Given the description of an element on the screen output the (x, y) to click on. 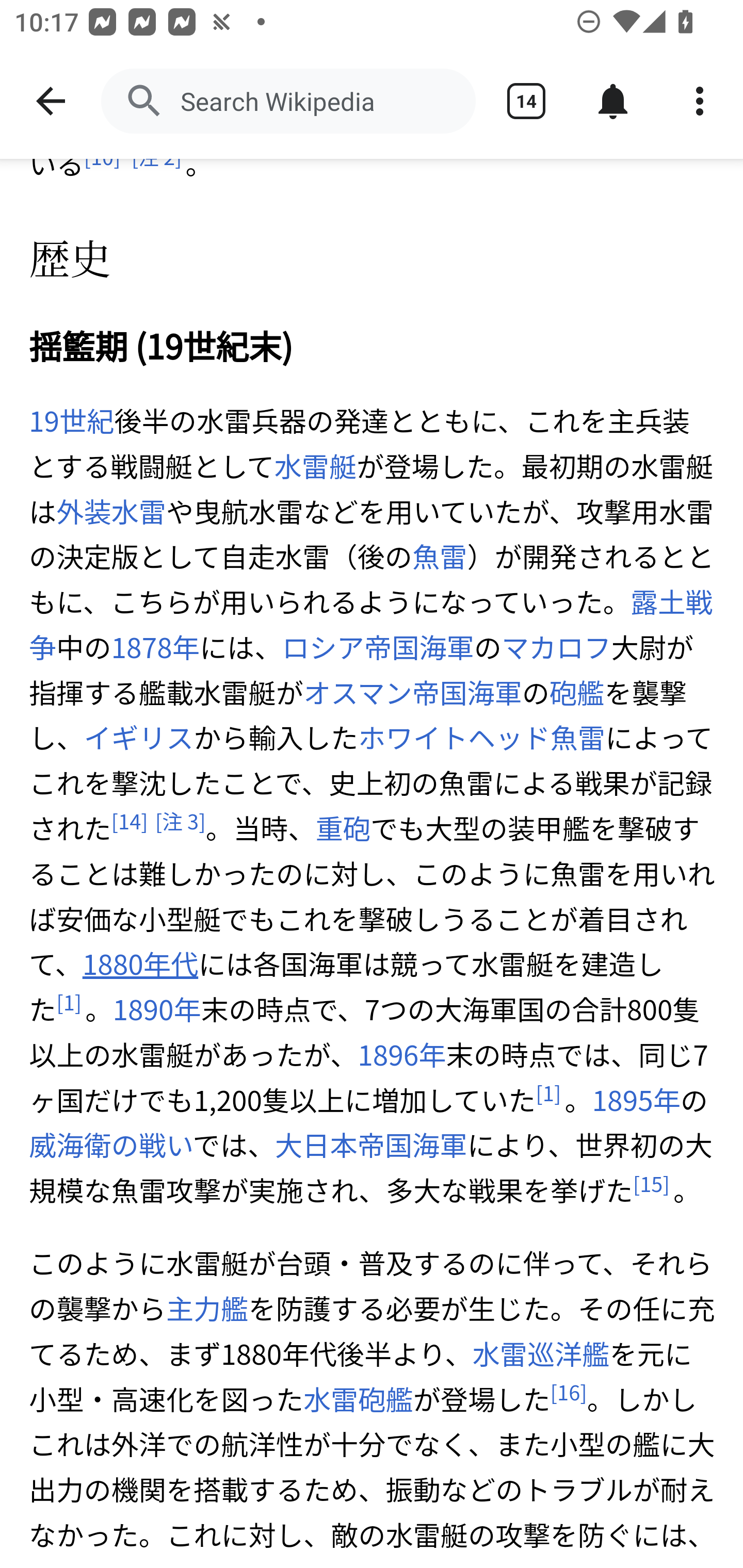
Show tabs 14 (525, 100)
Notifications (612, 100)
Navigate up (50, 101)
More options (699, 101)
Search Wikipedia (288, 100)
19世紀 (71, 421)
水雷艇 (314, 466)
外装水雷 (111, 510)
魚雷 (439, 556)
露土戦争 (370, 624)
1878年 (154, 646)
ロシア帝国海軍 (377, 646)
マカロフ (556, 646)
オスマン帝国海軍 (412, 692)
砲艦 (576, 692)
イギリス (138, 737)
ホワイトヘッド魚雷 (482, 737)
[] [ 14 ] (128, 821)
[注 ] [注  3 ] (180, 821)
重砲 (343, 828)
1880年代 (139, 964)
[] [ 1 ] (69, 1002)
1890年 (157, 1009)
1896年 (402, 1054)
[] [ 1 ] (547, 1093)
1895年 (634, 1099)
威海衛の戦い (110, 1145)
大日本帝国海軍 (370, 1145)
[] [ 15 ] (650, 1183)
主力艦 (206, 1308)
水雷巡洋艦 (540, 1353)
[] [ 16 ] (568, 1392)
水雷砲艦 (357, 1399)
